Given the description of an element on the screen output the (x, y) to click on. 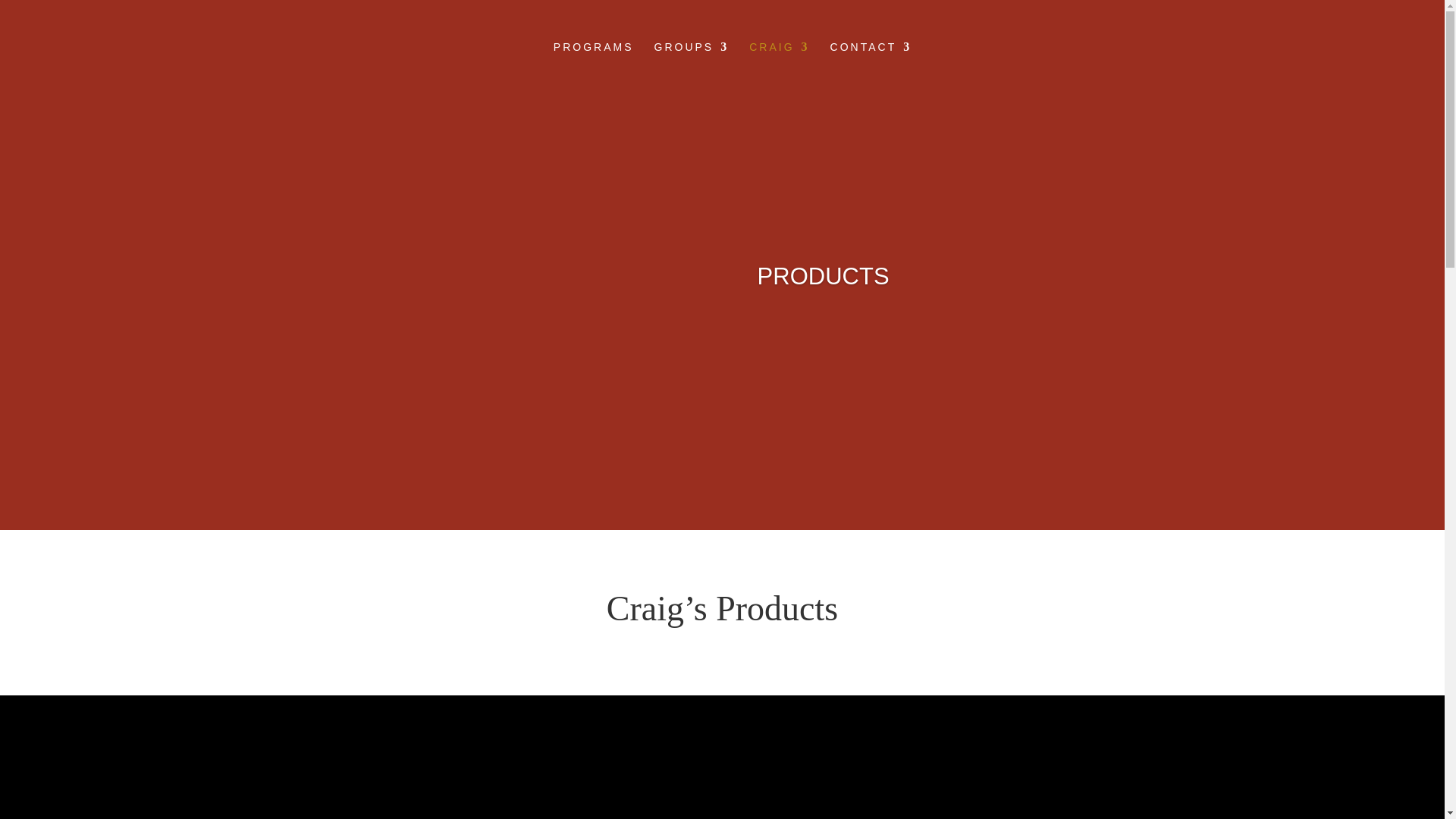
GROUPS (691, 58)
CONTACT (870, 58)
PROGRAMS (593, 58)
CRAIG (779, 58)
